Given the description of an element on the screen output the (x, y) to click on. 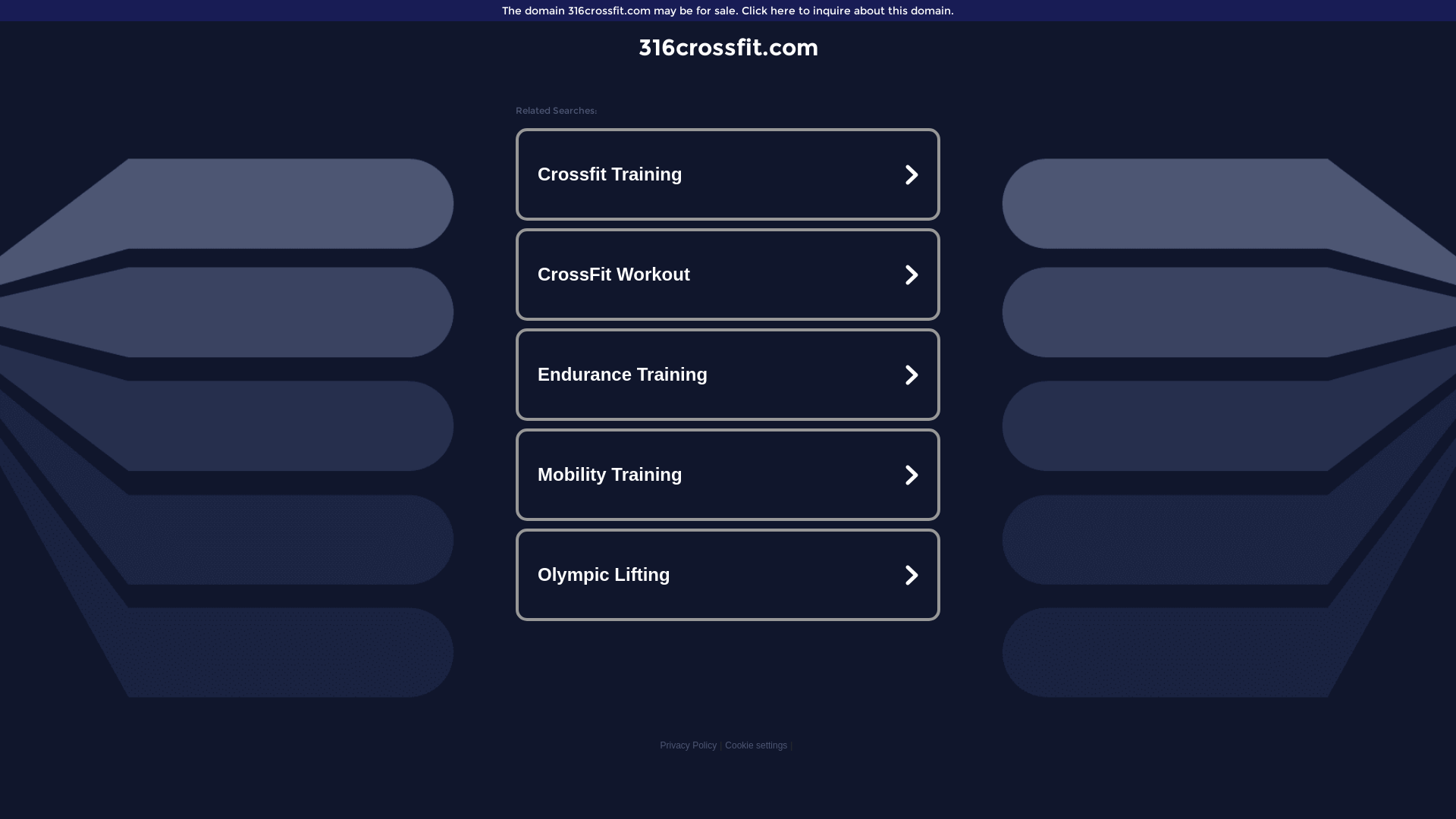
CrossFit Workout Element type: text (727, 274)
316crossfit.com Element type: text (728, 47)
Cookie settings Element type: text (755, 745)
Endurance Training Element type: text (727, 374)
Crossfit Training Element type: text (727, 174)
Privacy Policy Element type: text (687, 745)
Mobility Training Element type: text (727, 474)
Olympic Lifting Element type: text (727, 574)
